Given the description of an element on the screen output the (x, y) to click on. 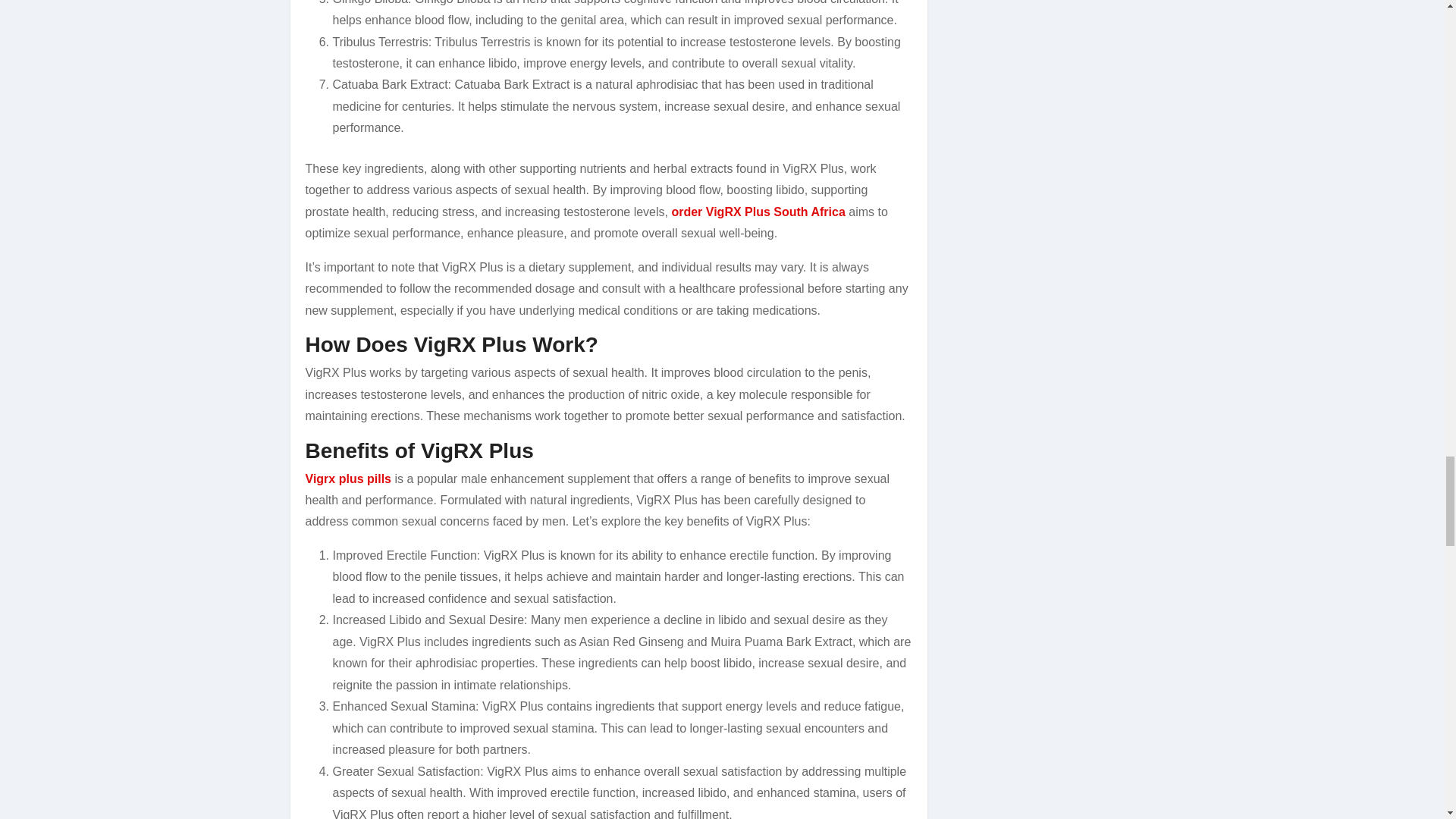
order VigRX Plus South Africa (757, 211)
